Given the description of an element on the screen output the (x, y) to click on. 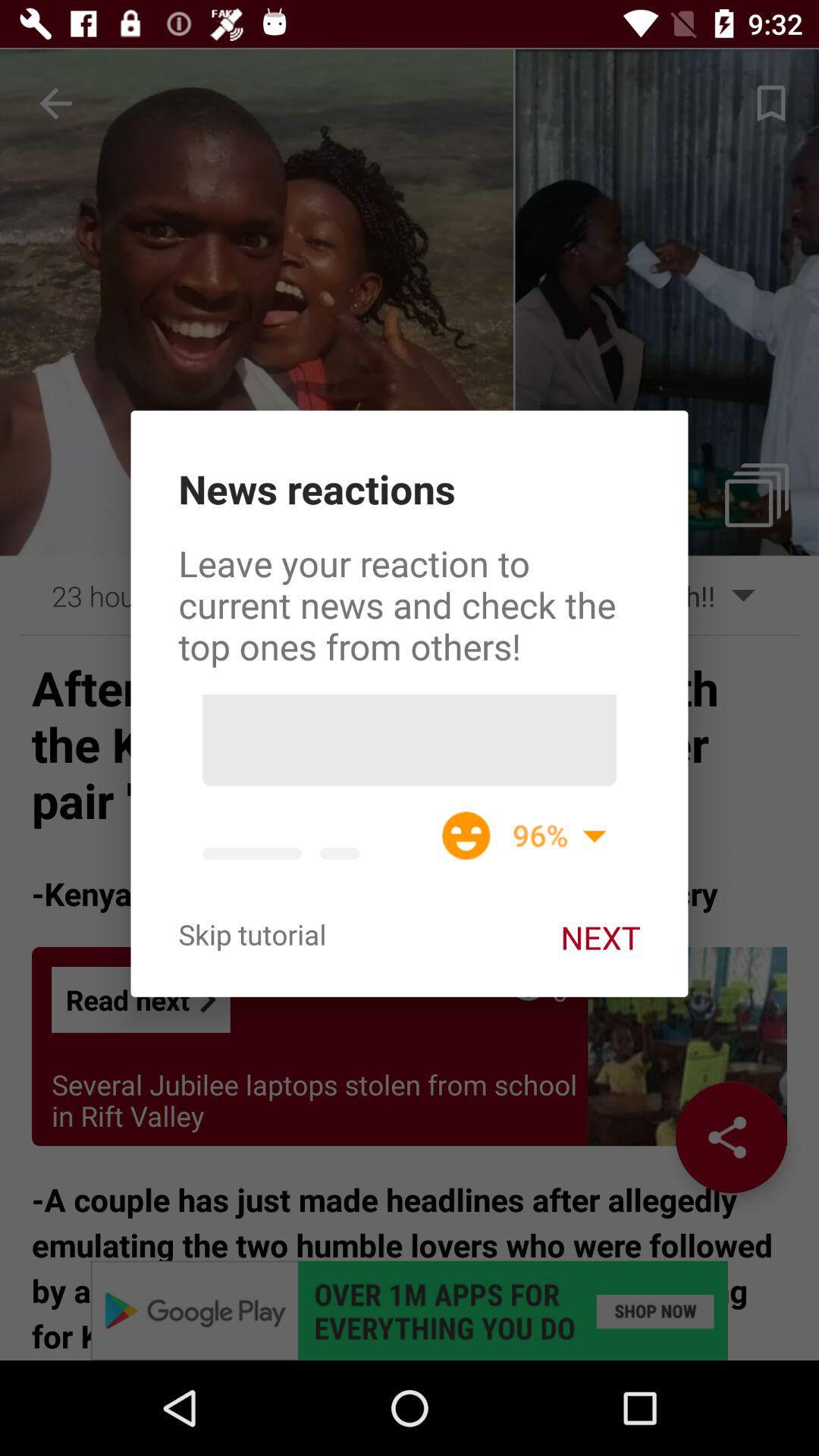
turn off the icon on the left (252, 934)
